Given the description of an element on the screen output the (x, y) to click on. 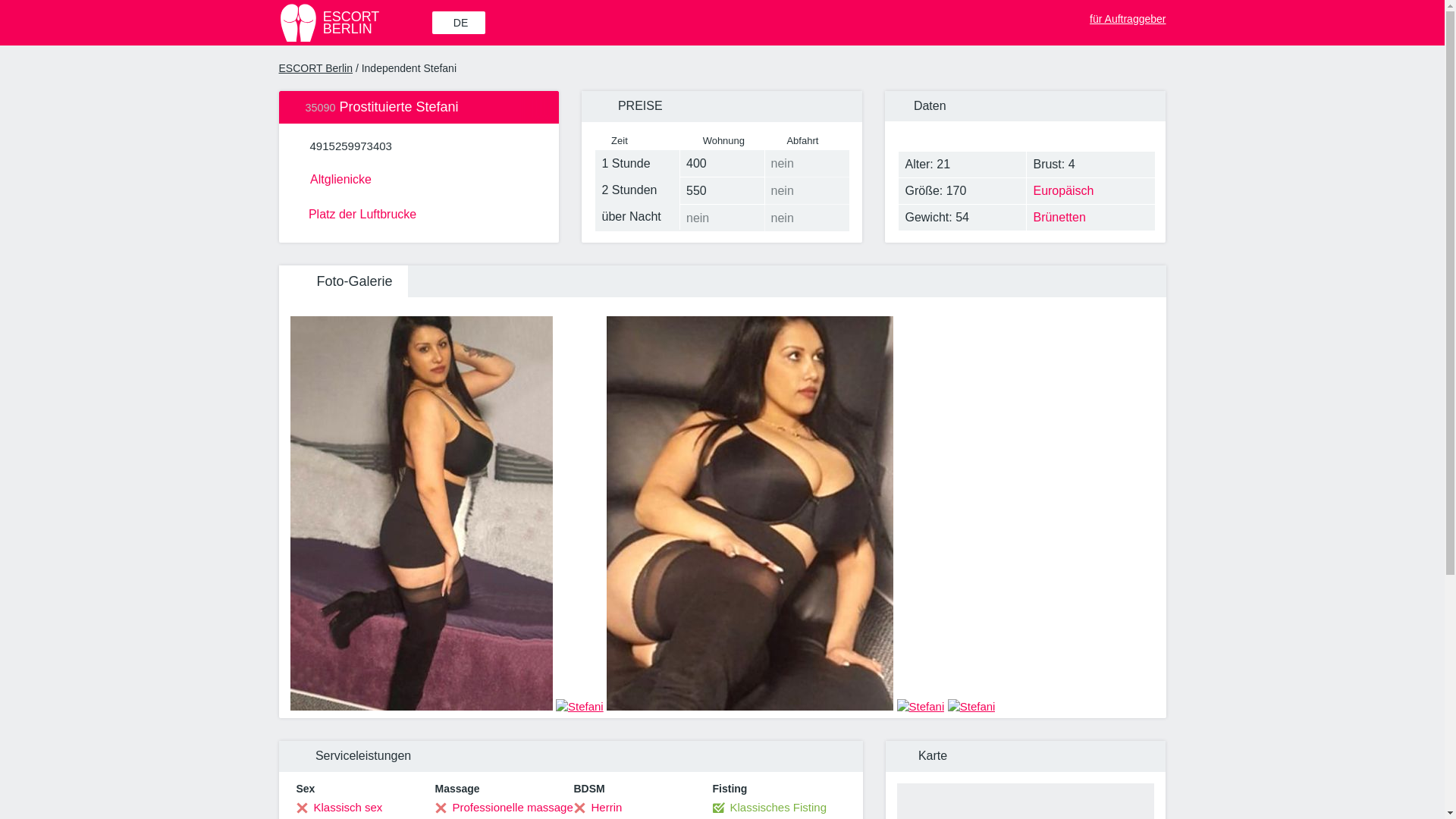
Platz der Luftbrucke (418, 212)
Foto-Galerie (343, 281)
Professionelle massage (504, 807)
ESCORT Berlin (354, 22)
4915259973403 (316, 68)
Altglienicke (350, 145)
Klassisch sex (418, 177)
